Given the description of an element on the screen output the (x, y) to click on. 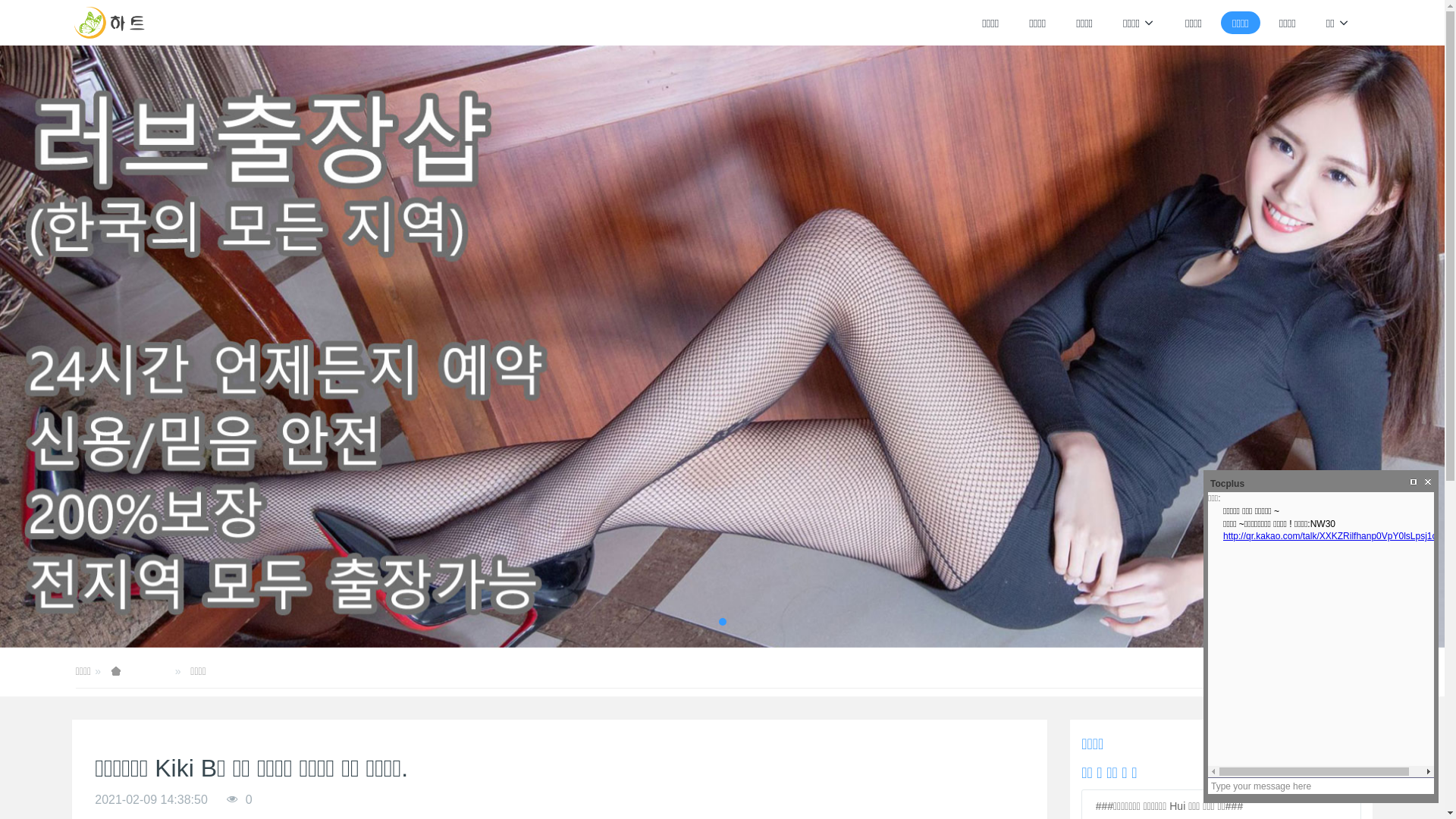
Tocplus Element type: text (1225, 483)
